Given the description of an element on the screen output the (x, y) to click on. 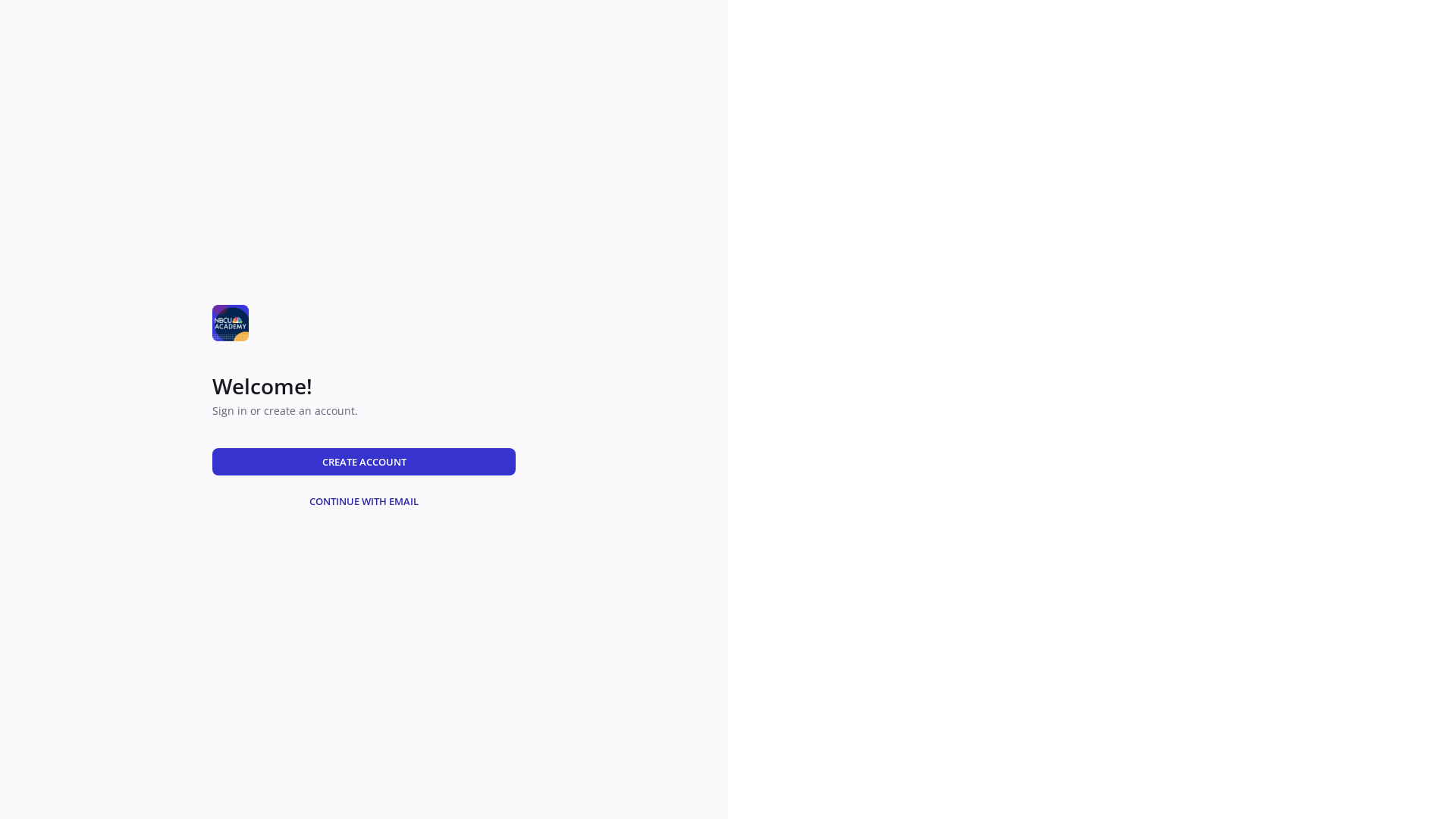
CREATE ACCOUNT Element type: text (363, 460)
CONTINUE WITH EMAIL Element type: text (363, 500)
